Given the description of an element on the screen output the (x, y) to click on. 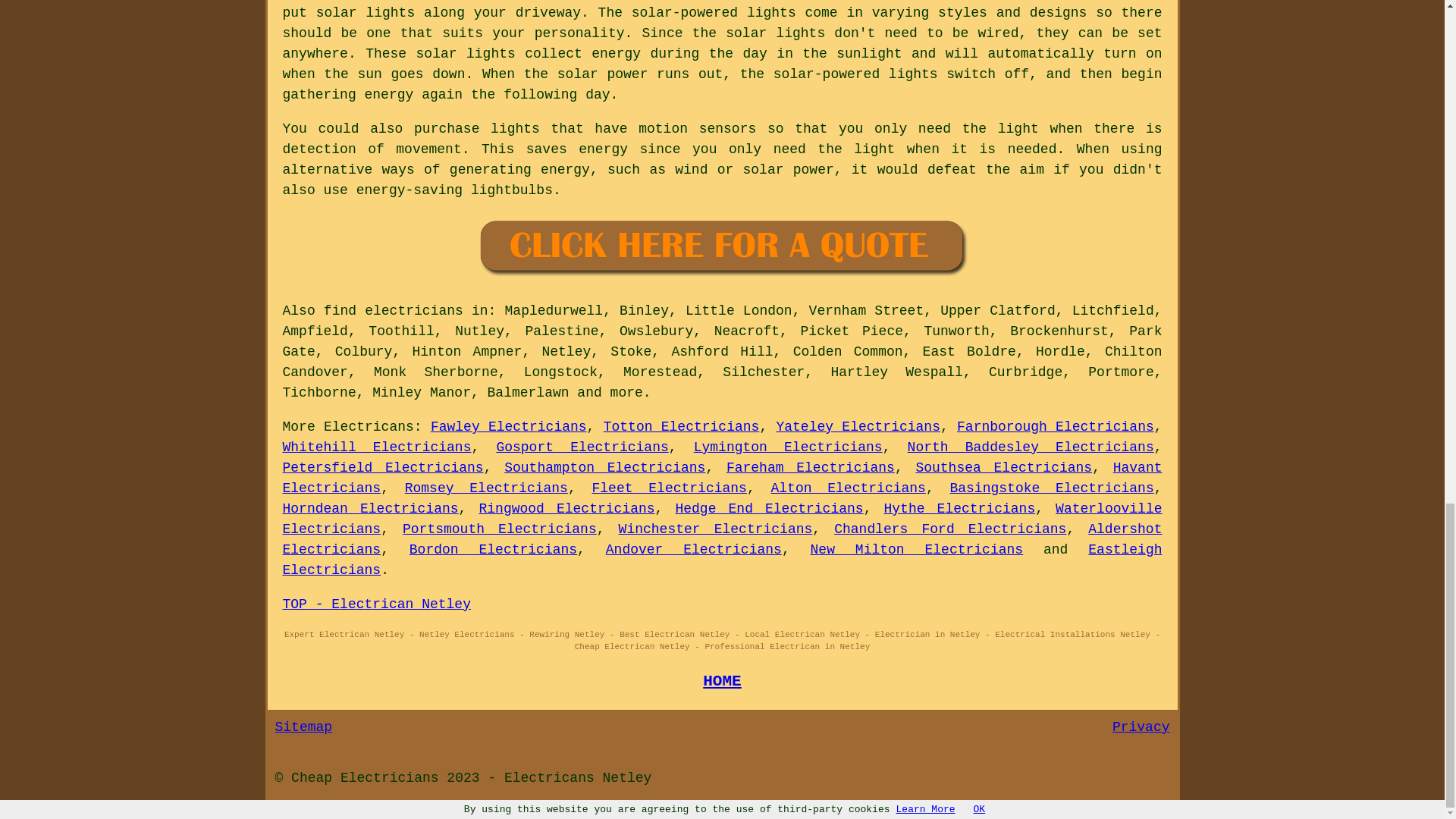
Havant Electricians (721, 478)
Lymington Electricians (788, 447)
Totton Electricians (682, 426)
Petersfield Electricians (382, 467)
Farnborough Electricians (1055, 426)
Whitehill Electricians (376, 447)
Fawley Electricians (508, 426)
Southsea Electricians (1003, 467)
Romsey Electricians (485, 488)
Southampton Electricians (603, 467)
